Given the description of an element on the screen output the (x, y) to click on. 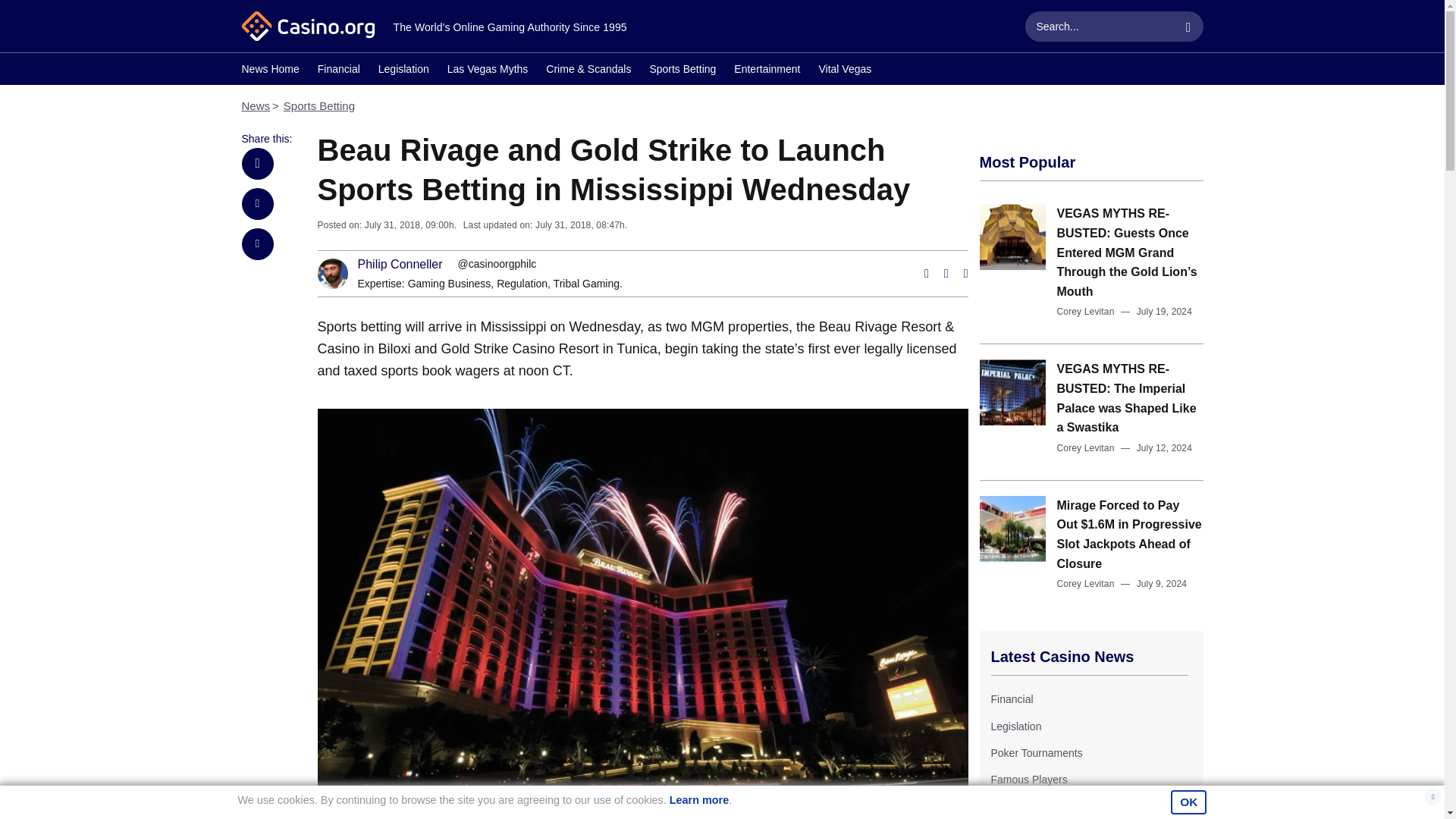
News Home (269, 70)
Philip Conneller (400, 264)
Poker Tournaments (1035, 752)
Corey Levitan (1086, 311)
News (255, 105)
Sports Betting (682, 70)
Sports (1005, 806)
Sports Betting (319, 105)
Corey Levitan (1086, 583)
Regulation (521, 283)
Famous Players (1028, 779)
Financial (338, 70)
Gaming Business (449, 283)
Legislation (403, 70)
